Given the description of an element on the screen output the (x, y) to click on. 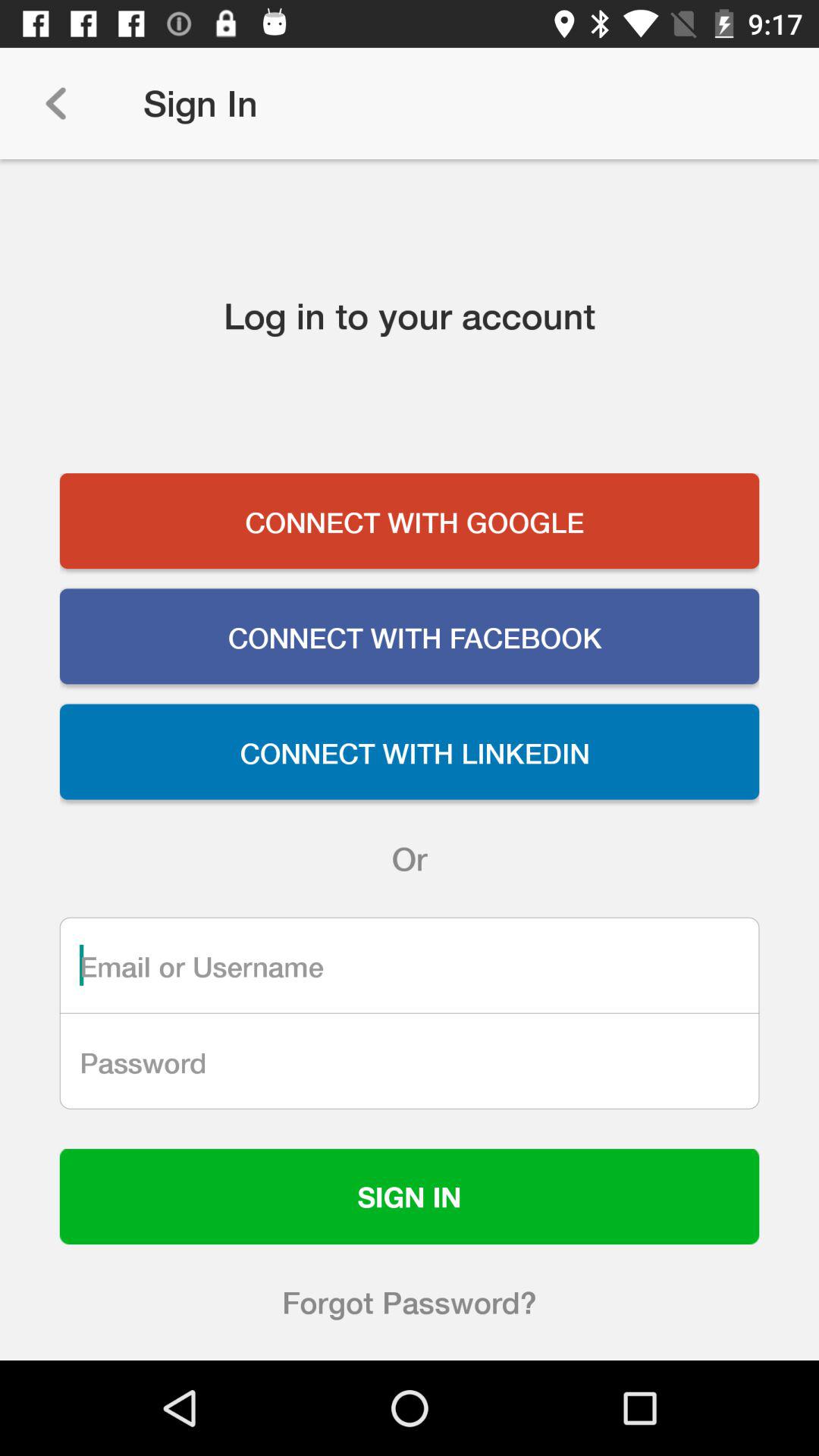
enter username or email (409, 964)
